Given the description of an element on the screen output the (x, y) to click on. 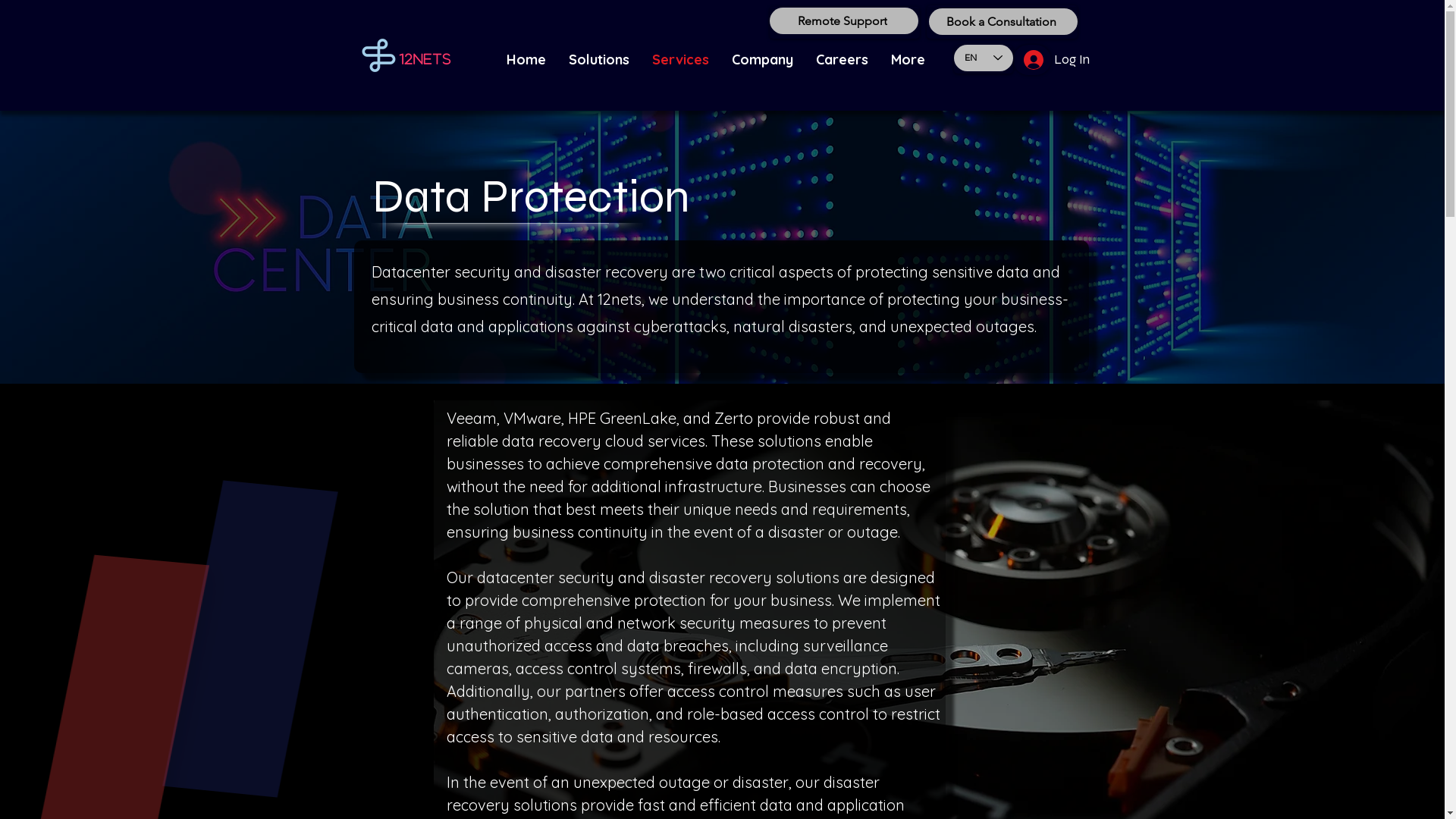
Careers Element type: text (840, 59)
Services Element type: text (679, 59)
Company Element type: text (762, 59)
Book a Consultation Element type: text (1002, 21)
Log In Element type: text (1032, 59)
Solutions Element type: text (598, 59)
Remote Support Element type: text (842, 20)
Embedded Content Element type: hover (1303, 597)
Home Element type: text (525, 59)
